Given the description of an element on the screen output the (x, y) to click on. 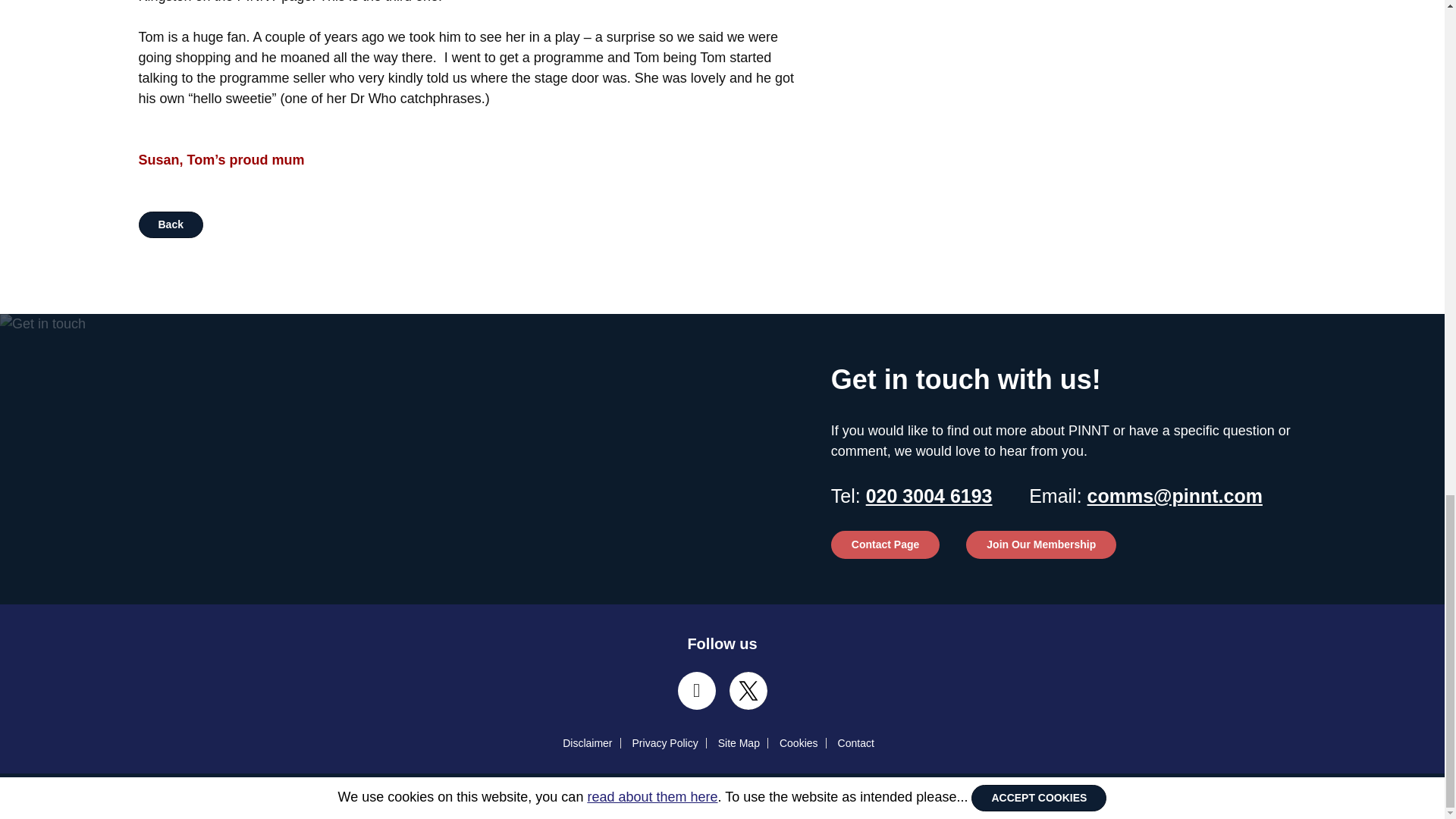
02030046193 (929, 495)
Like us on Facebook Link (697, 690)
Follow us on Twitter Link (748, 690)
Back (170, 224)
